Given the description of an element on the screen output the (x, y) to click on. 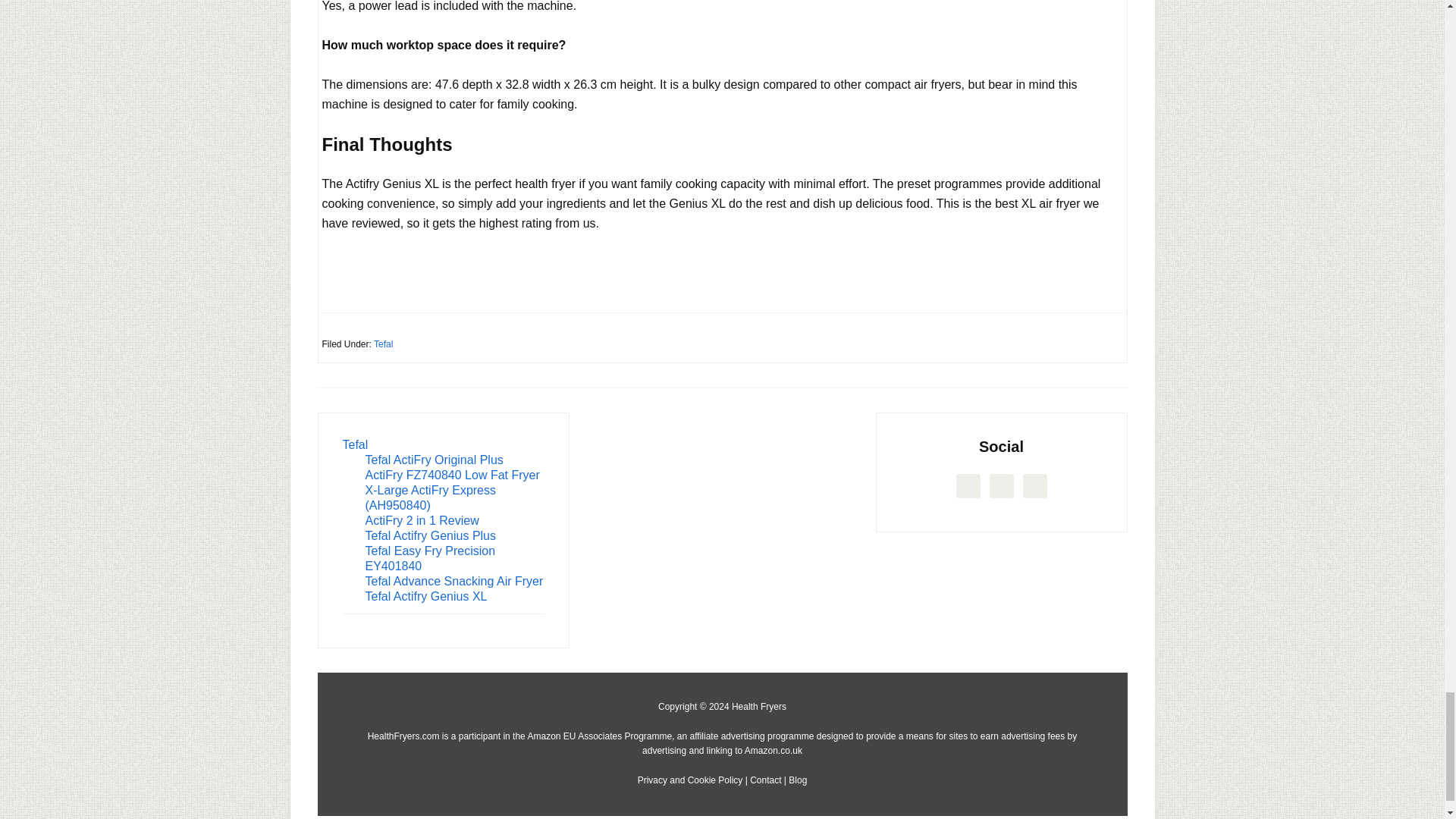
Tefal ActiFry Original Plus (434, 459)
Tefal (383, 344)
Tefal (355, 444)
ActiFry FZ740840 Low Fat Fryer (452, 474)
